Given the description of an element on the screen output the (x, y) to click on. 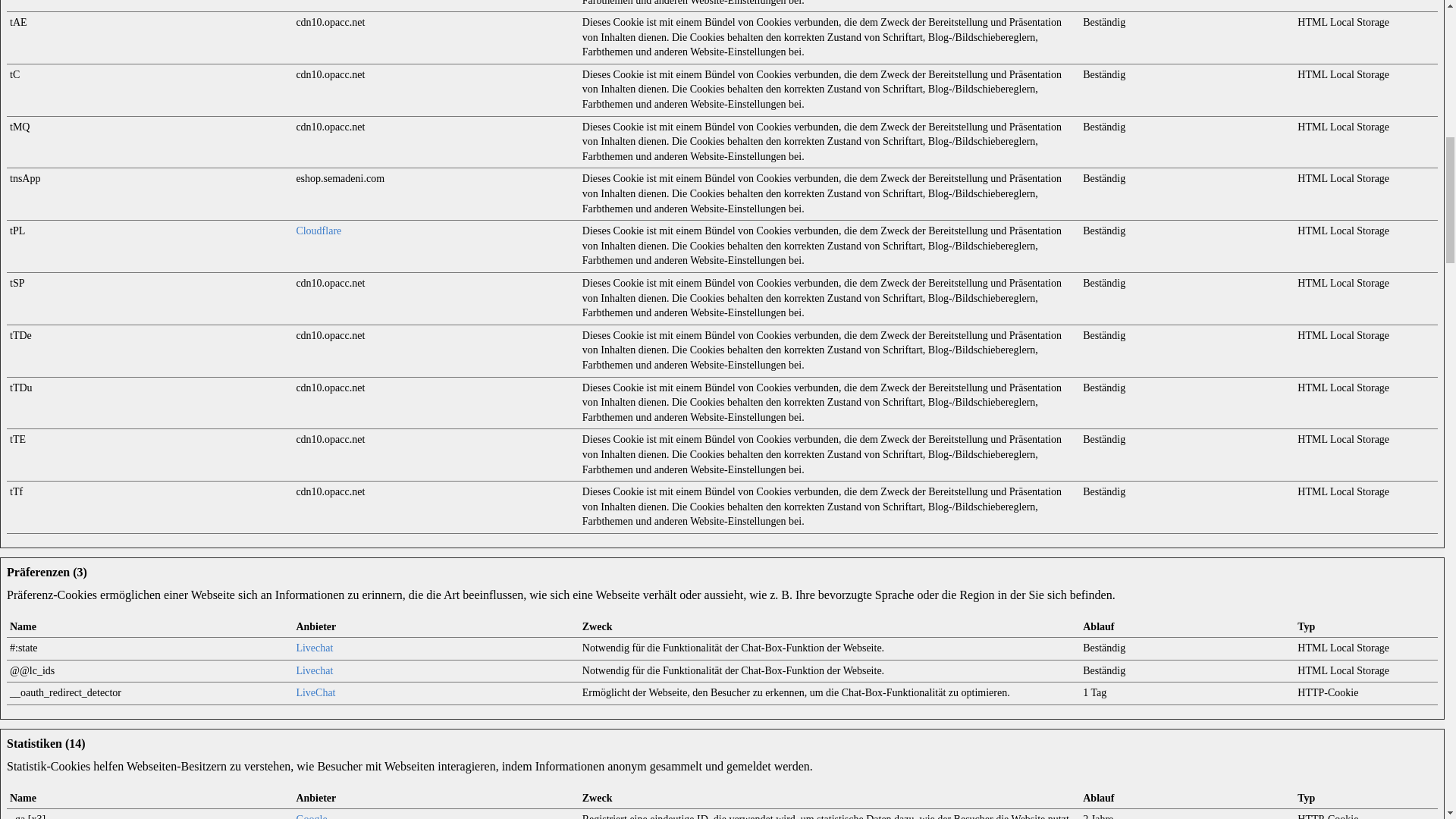
Cloudflare (317, 230)
LiveChat (314, 692)
Google (310, 816)
die Datenschutzrichtlinie von Google (310, 816)
Livechat (314, 647)
die Datenschutzrichtlinie von Livechat (314, 670)
Livechat (314, 670)
die Datenschutzrichtlinie von Livechat (314, 647)
die Datenschutzrichtlinie von Cloudflare (317, 230)
die Datenschutzrichtlinie von LiveChat (314, 692)
